Given the description of an element on the screen output the (x, y) to click on. 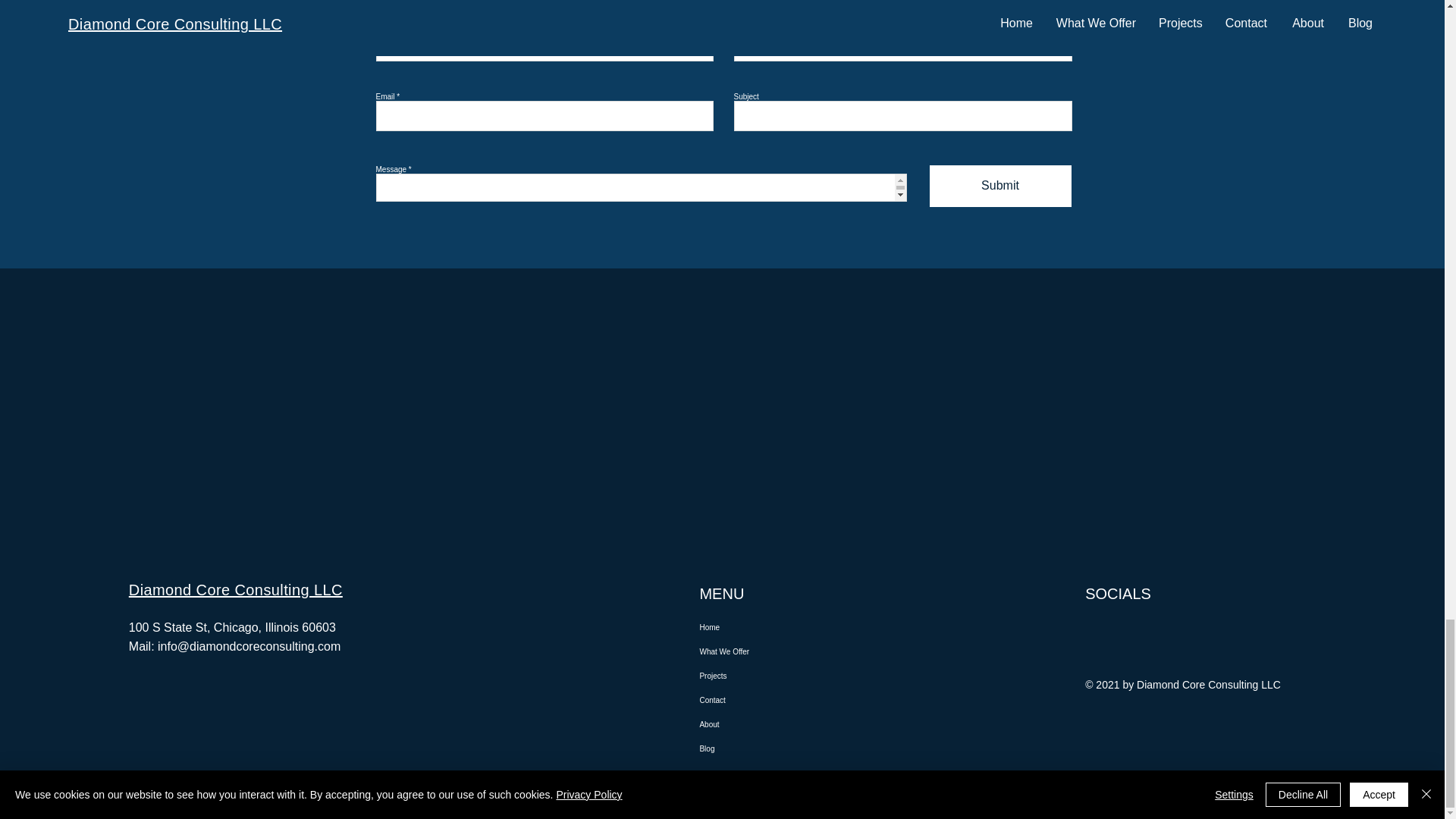
Home (779, 627)
Projects (779, 675)
Diamond Core Consulting LLC (235, 589)
What We Offer (779, 651)
Submit (1000, 185)
